Given the description of an element on the screen output the (x, y) to click on. 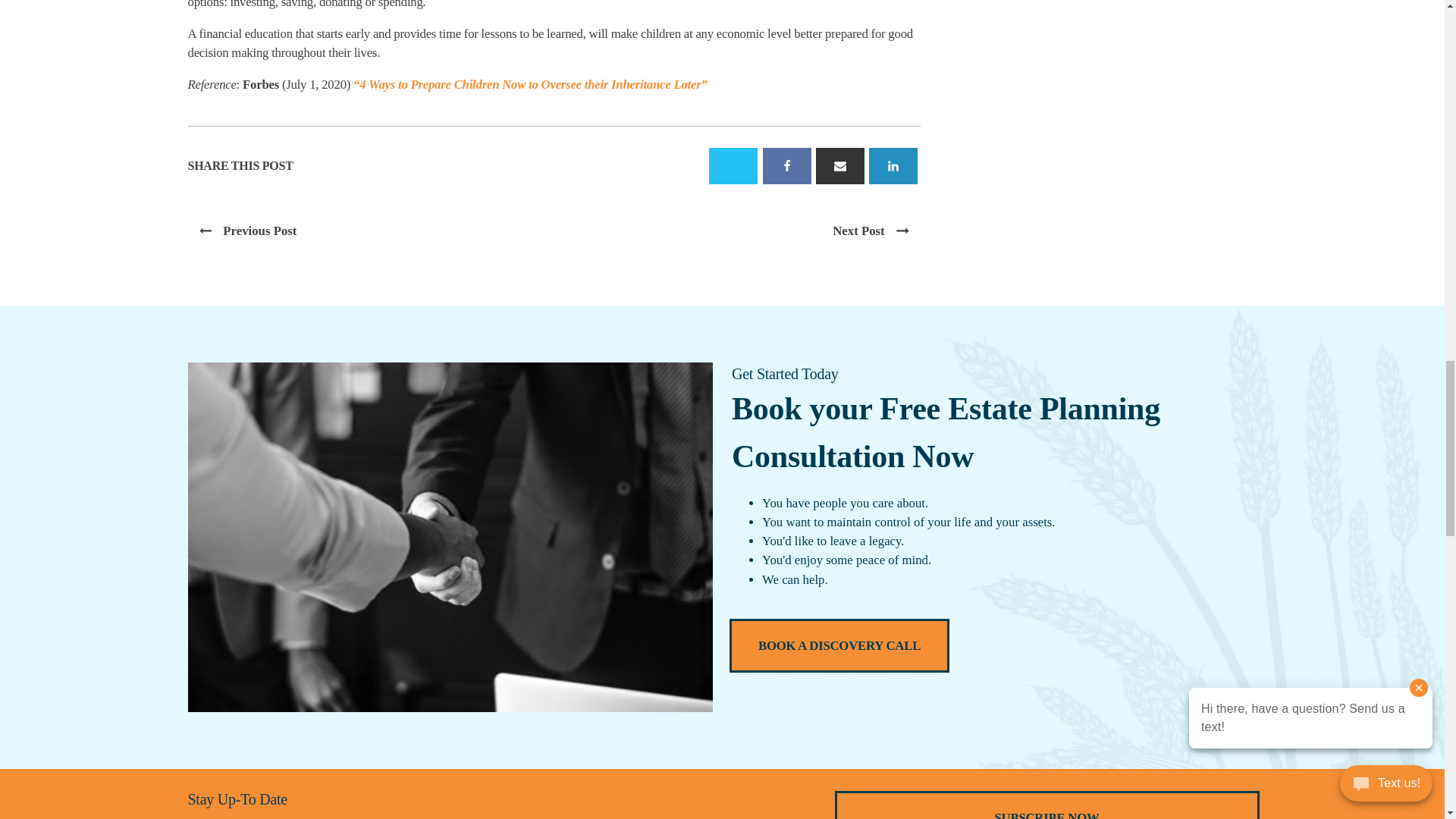
Subscribe To Our E-Newsletter (1047, 806)
Book A Discovery Call With Legacy Design Strategies (839, 645)
